Given the description of an element on the screen output the (x, y) to click on. 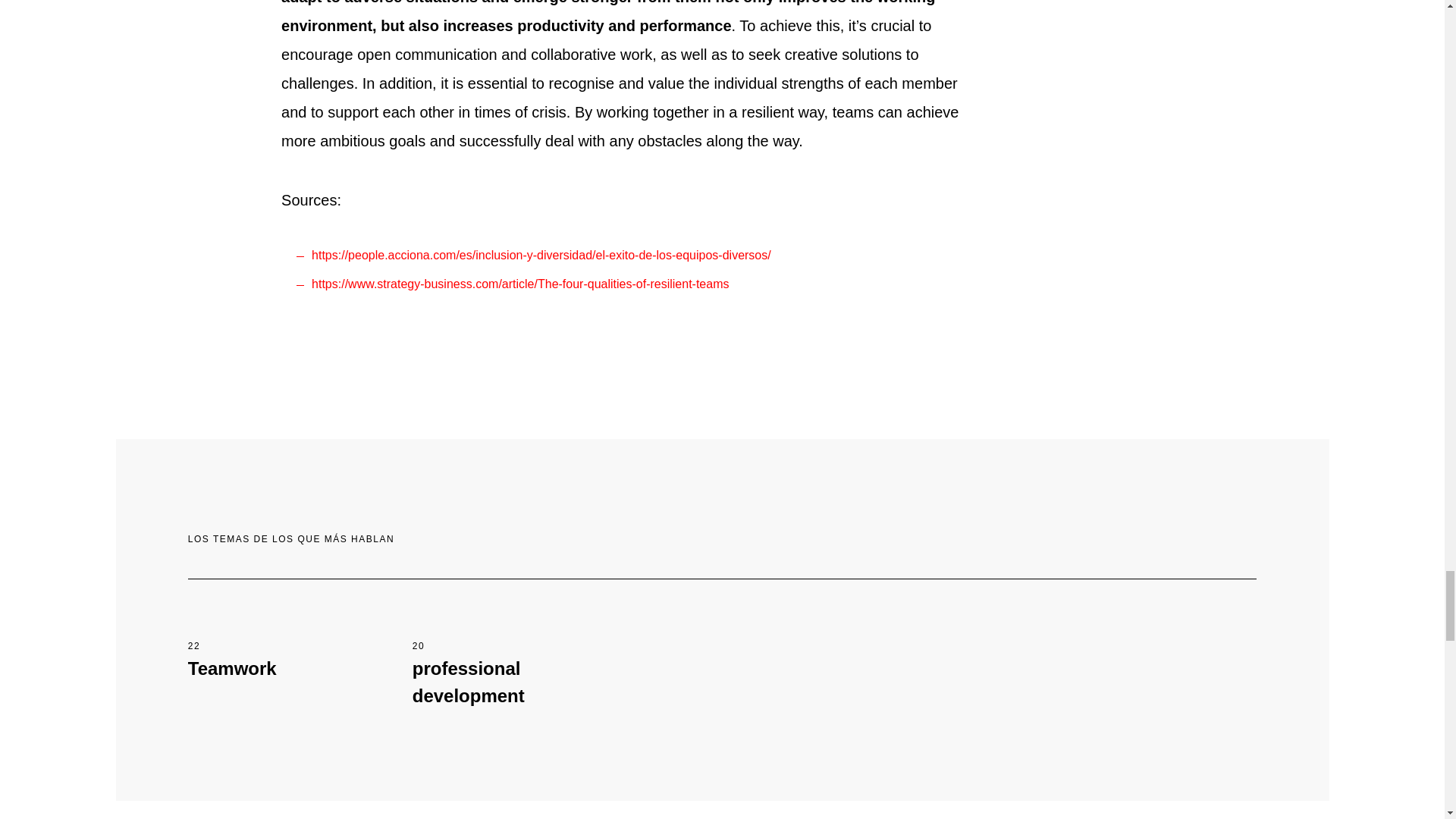
professional development (497, 682)
Teamwork (231, 668)
